Given the description of an element on the screen output the (x, y) to click on. 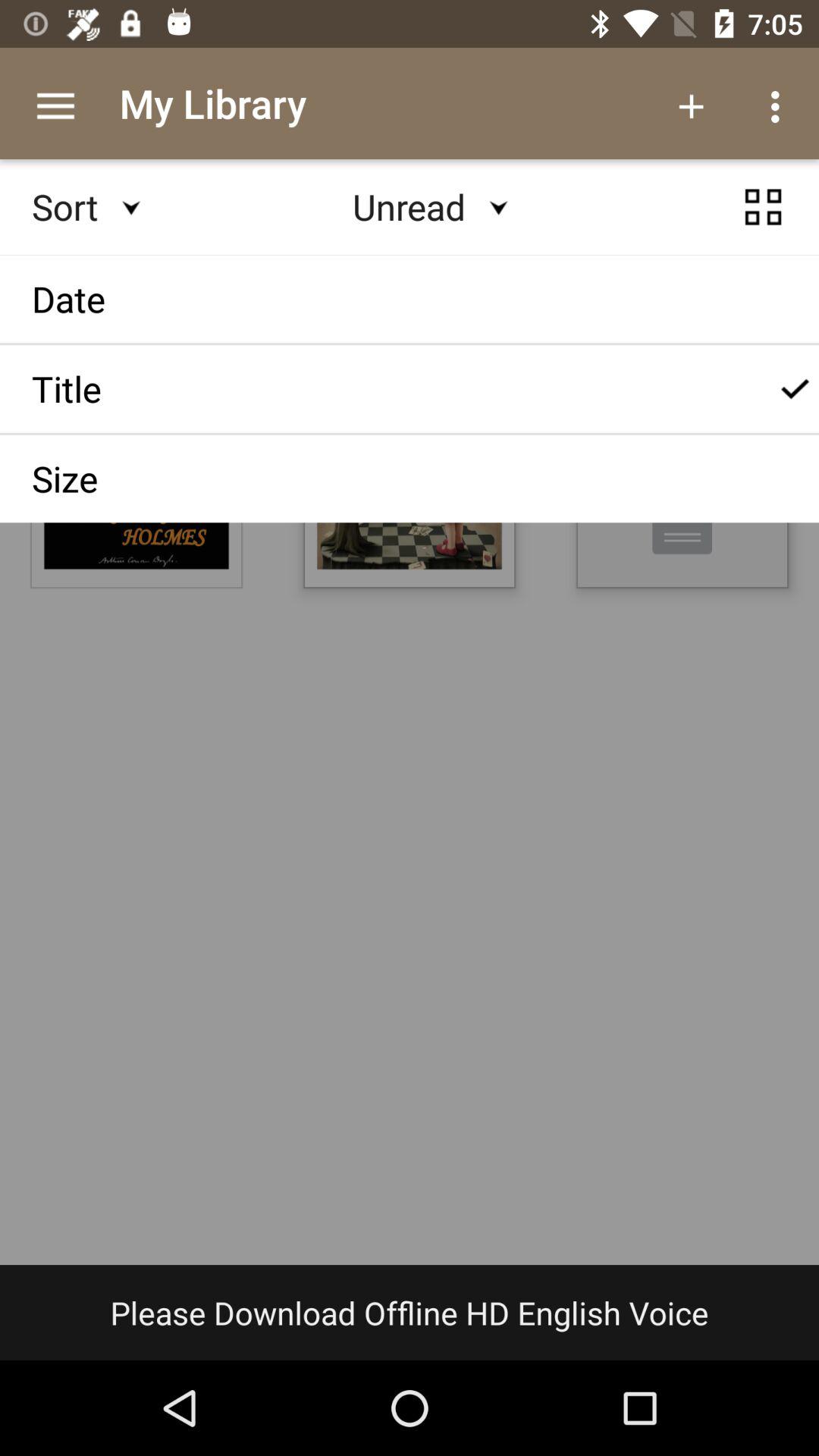
select the checkbox of title (795, 389)
